Given the description of an element on the screen output the (x, y) to click on. 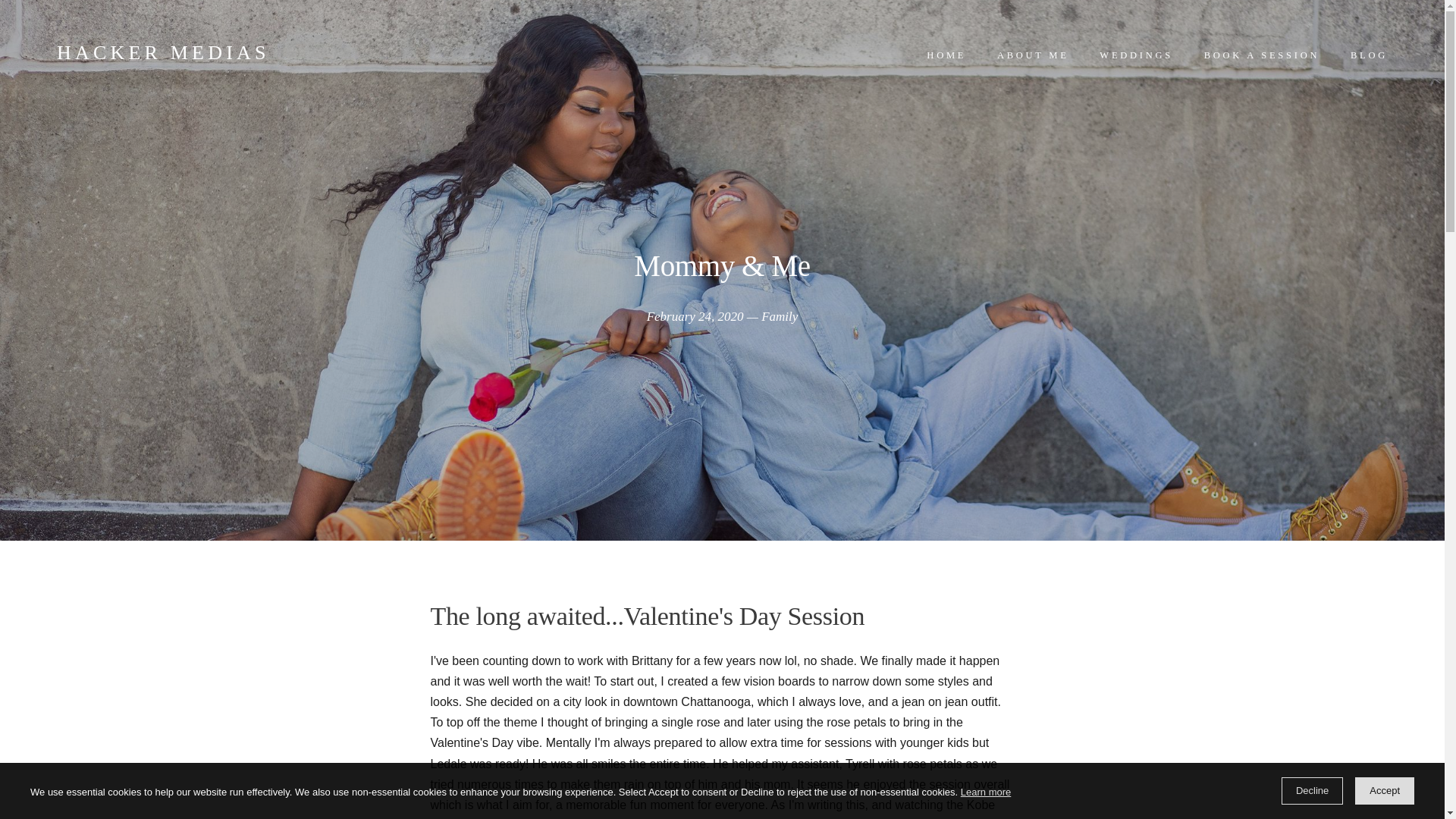
HOME (946, 55)
Accept (1384, 790)
BOOK A SESSION (1261, 55)
Family (779, 316)
WEDDINGS (1136, 55)
Learn more (985, 791)
ABOUT ME (1032, 55)
BLOG (1369, 55)
Decline (1311, 790)
HACKER MEDIAS (162, 53)
